Given the description of an element on the screen output the (x, y) to click on. 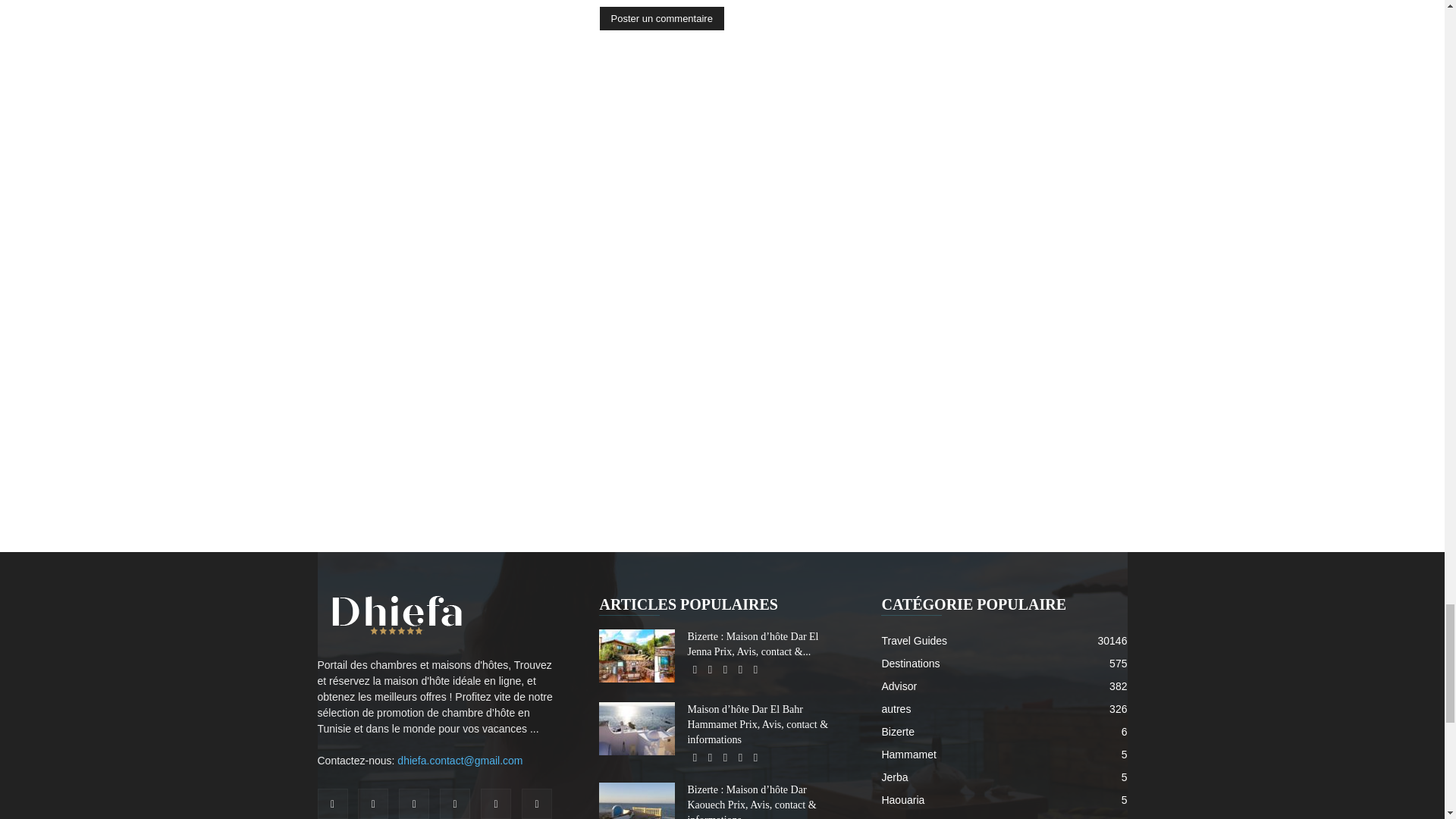
Poster un commentaire (660, 18)
